Given the description of an element on the screen output the (x, y) to click on. 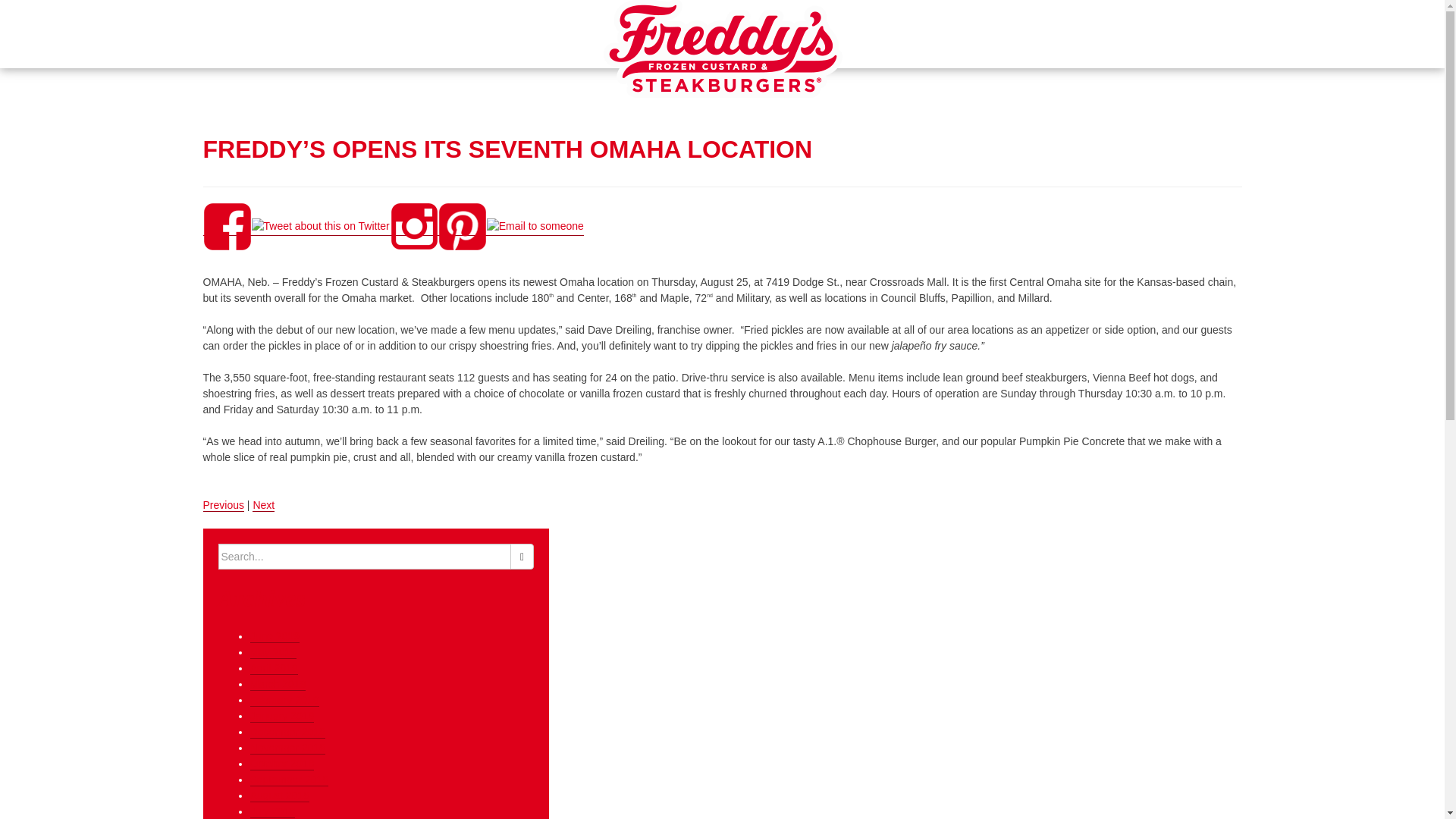
November 2018 (288, 748)
Facebook (227, 226)
January 2019 (282, 716)
April 2019 (274, 667)
July 2018 (272, 811)
May 2019 (273, 652)
June 2019 (274, 635)
Twitter (320, 226)
March 2019 (277, 684)
Next (263, 504)
